Given the description of an element on the screen output the (x, y) to click on. 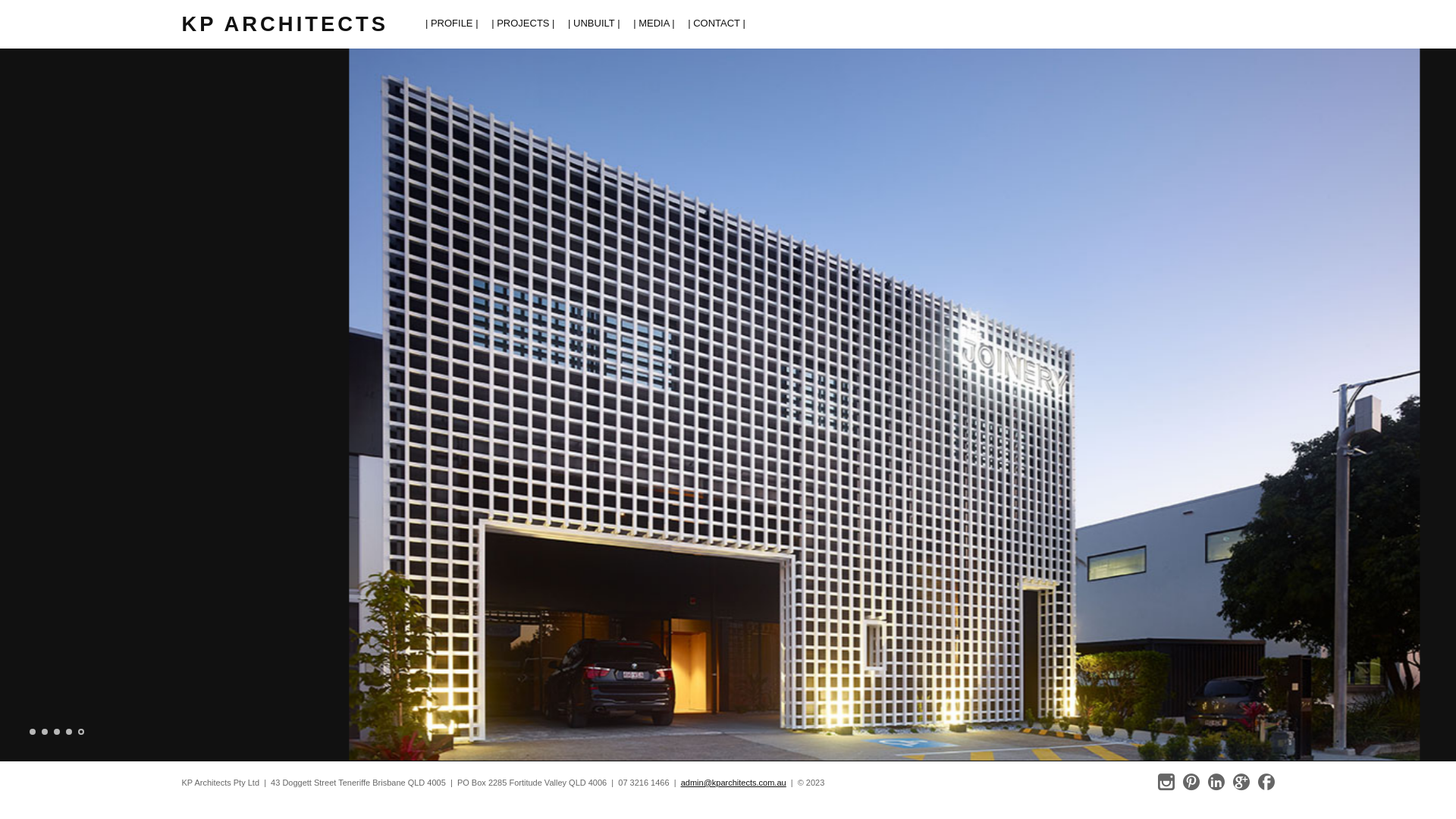
KP ARCHITECTS Element type: text (285, 23)
| PROJECTS | Element type: text (522, 23)
admin@kparchitects.com.au Element type: text (733, 782)
| PROFILE | Element type: text (451, 23)
| MEDIA | Element type: text (653, 23)
| UNBUILT | Element type: text (593, 23)
| CONTACT | Element type: text (716, 23)
